Given the description of an element on the screen output the (x, y) to click on. 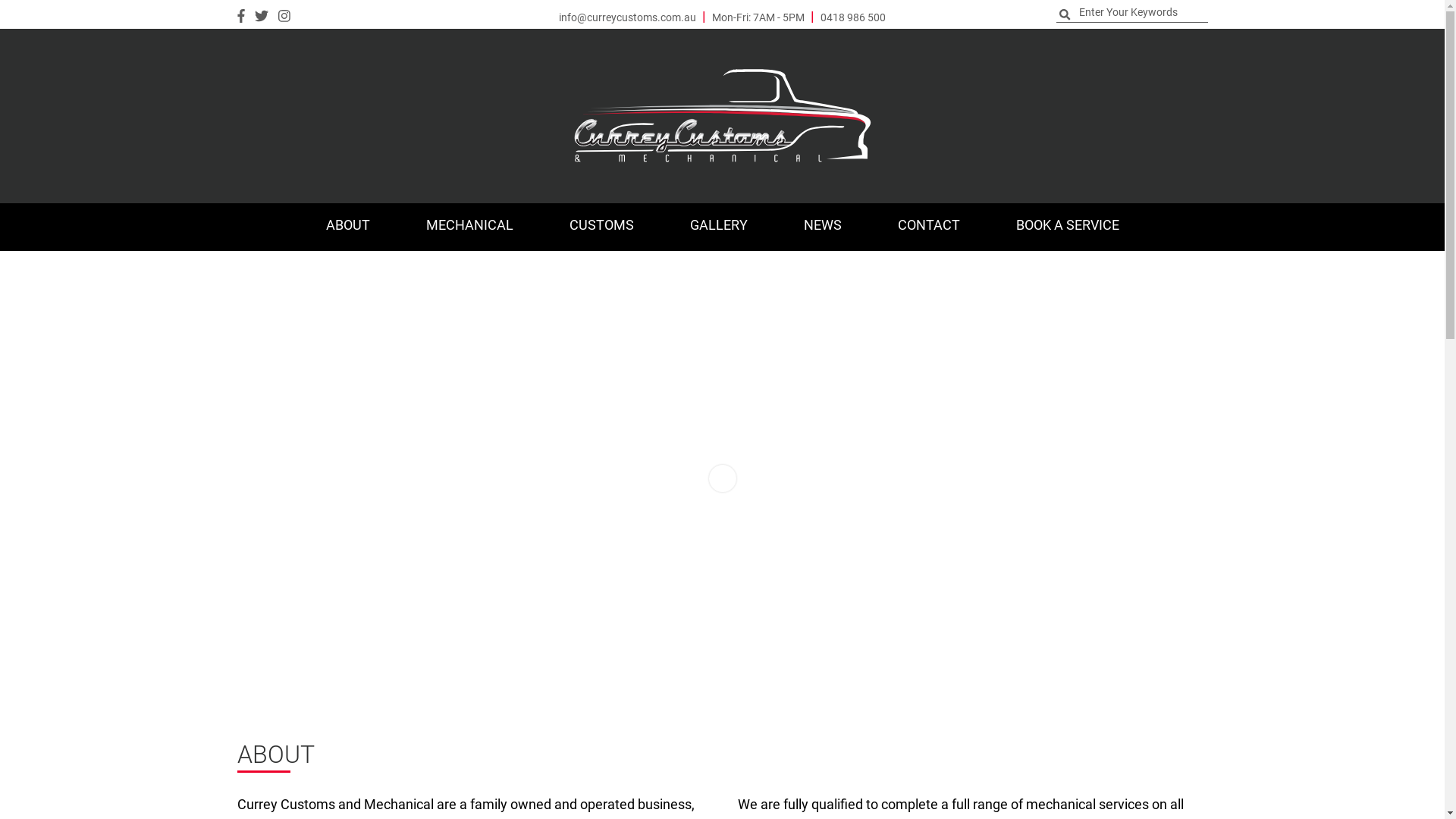
MECHANICAL Element type: text (468, 227)
CONTACT Element type: text (927, 227)
BOOK A SERVICE Element type: text (1066, 227)
CURREY CUSTOMS & MECHANICAL Element type: text (722, 115)
CUSTOMS Element type: text (601, 227)
GALLERY Element type: text (717, 227)
0418 986 500 Element type: text (852, 17)
Search Element type: text (75, 8)
ABOUT Element type: text (346, 227)
NEWS Element type: text (821, 227)
info@curreycustoms.com.au Element type: text (627, 17)
